Given the description of an element on the screen output the (x, y) to click on. 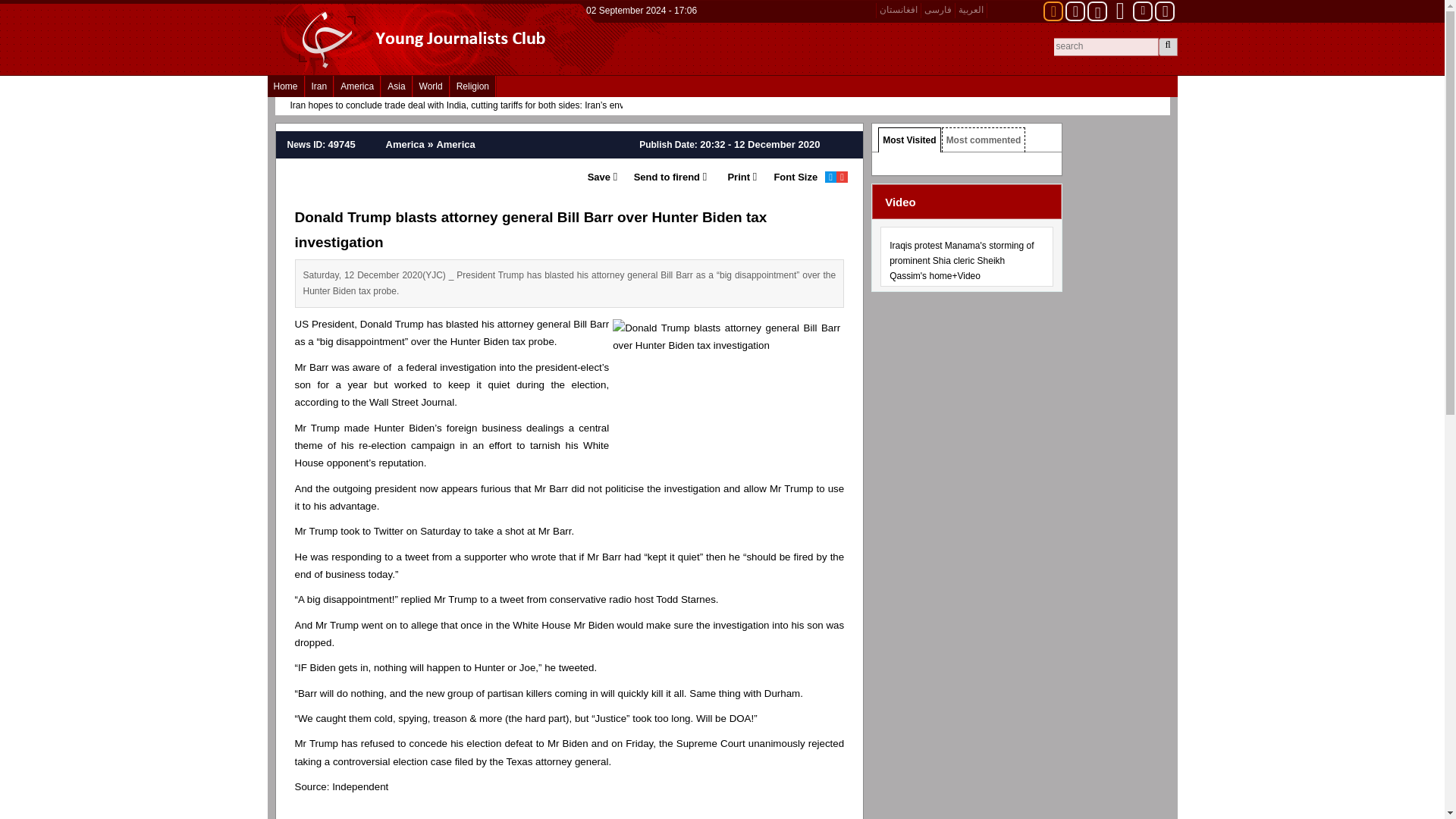
Religion (472, 86)
World (430, 86)
Home (284, 86)
America (357, 86)
Print (731, 177)
Save (598, 177)
Send to friends (661, 177)
Asia (395, 86)
Iran (319, 86)
